Given the description of an element on the screen output the (x, y) to click on. 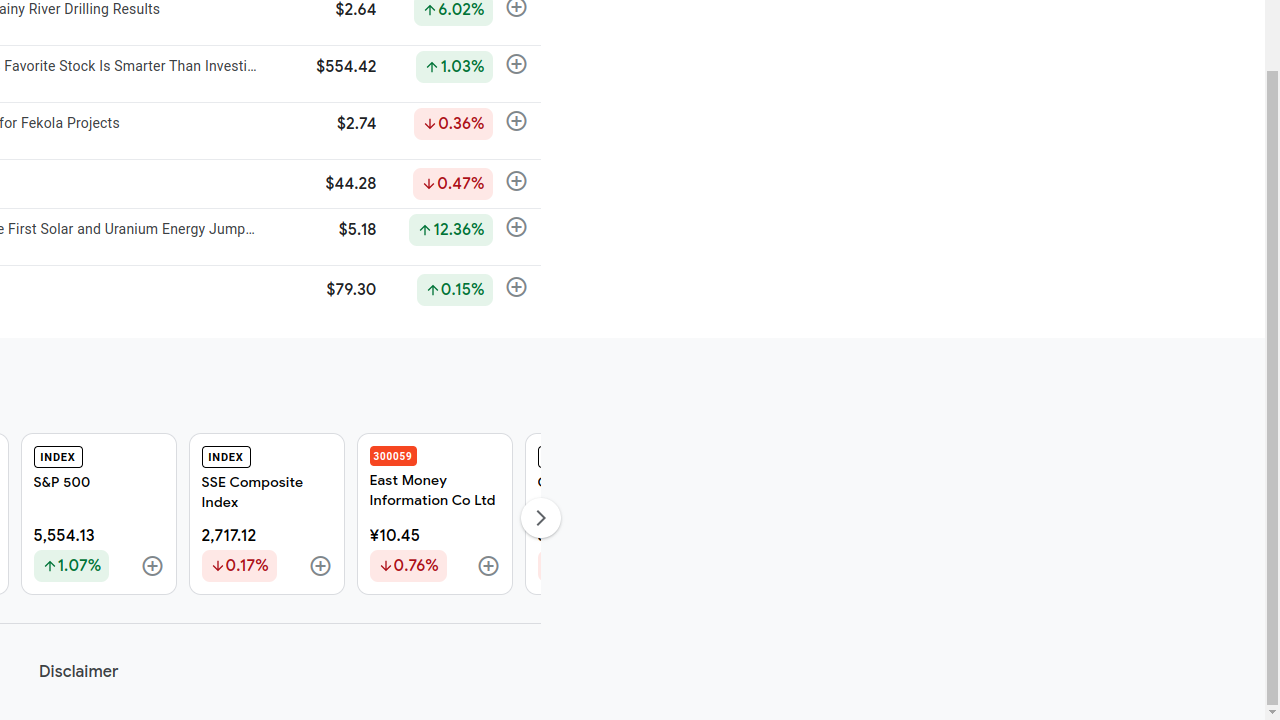
Disclaimer Element type: link (78, 672)
INDEX S&P 500 5,554.13 Up by 1.07% Element type: link (98, 514)
INDEX SSE Composite Index 2,717.12 Down by 0.17% Element type: link (266, 514)
Follow Element type: push-button (488, 567)
300059 East Money Information Co Ltd ¥10.45 Down by 0.76% Element type: link (434, 514)
